Given the description of an element on the screen output the (x, y) to click on. 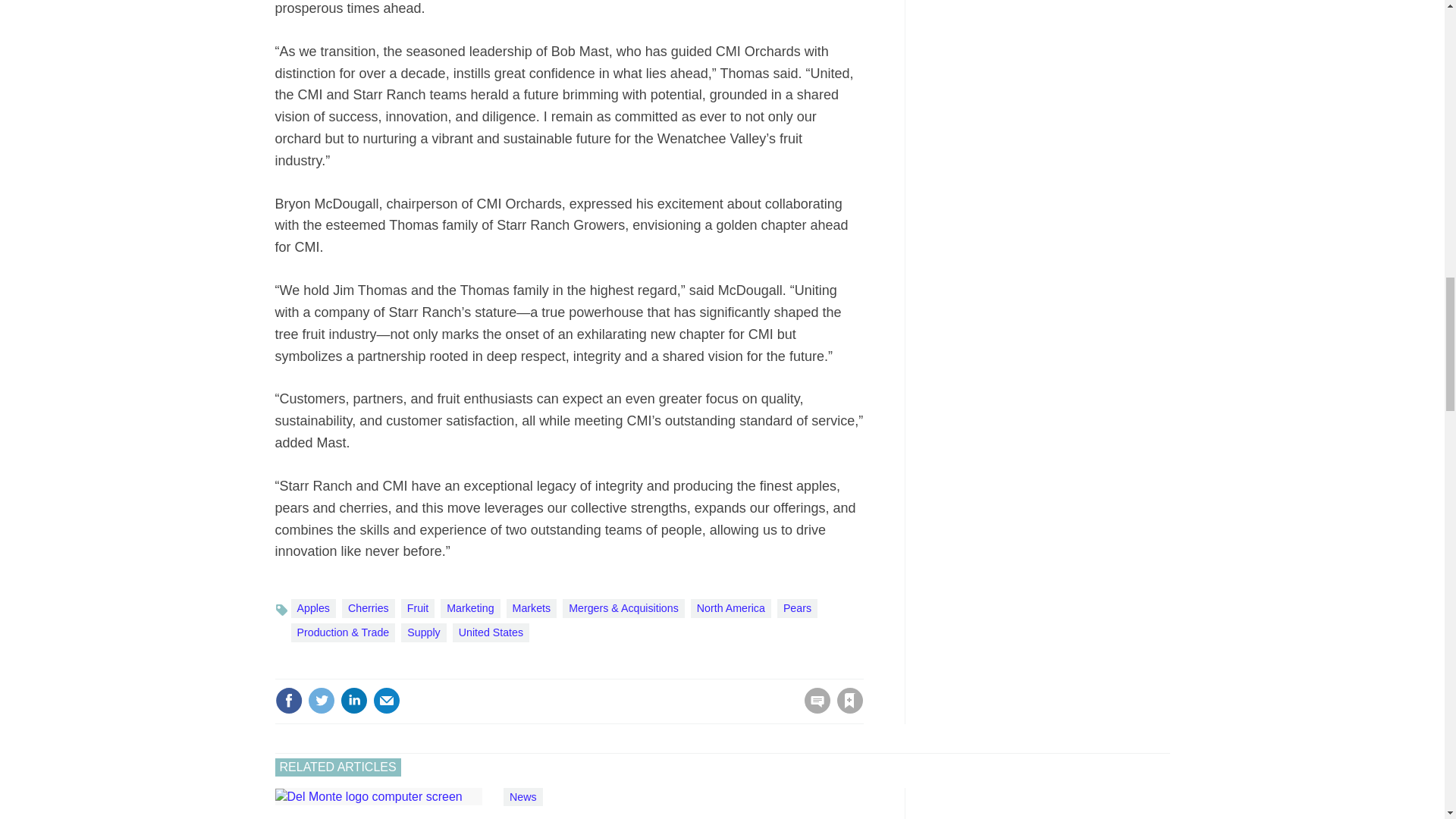
Share this on Facebook (288, 700)
Share this on Linked in (352, 700)
Share this on Twitter (320, 700)
Email this article (386, 700)
No comments (812, 709)
